Given the description of an element on the screen output the (x, y) to click on. 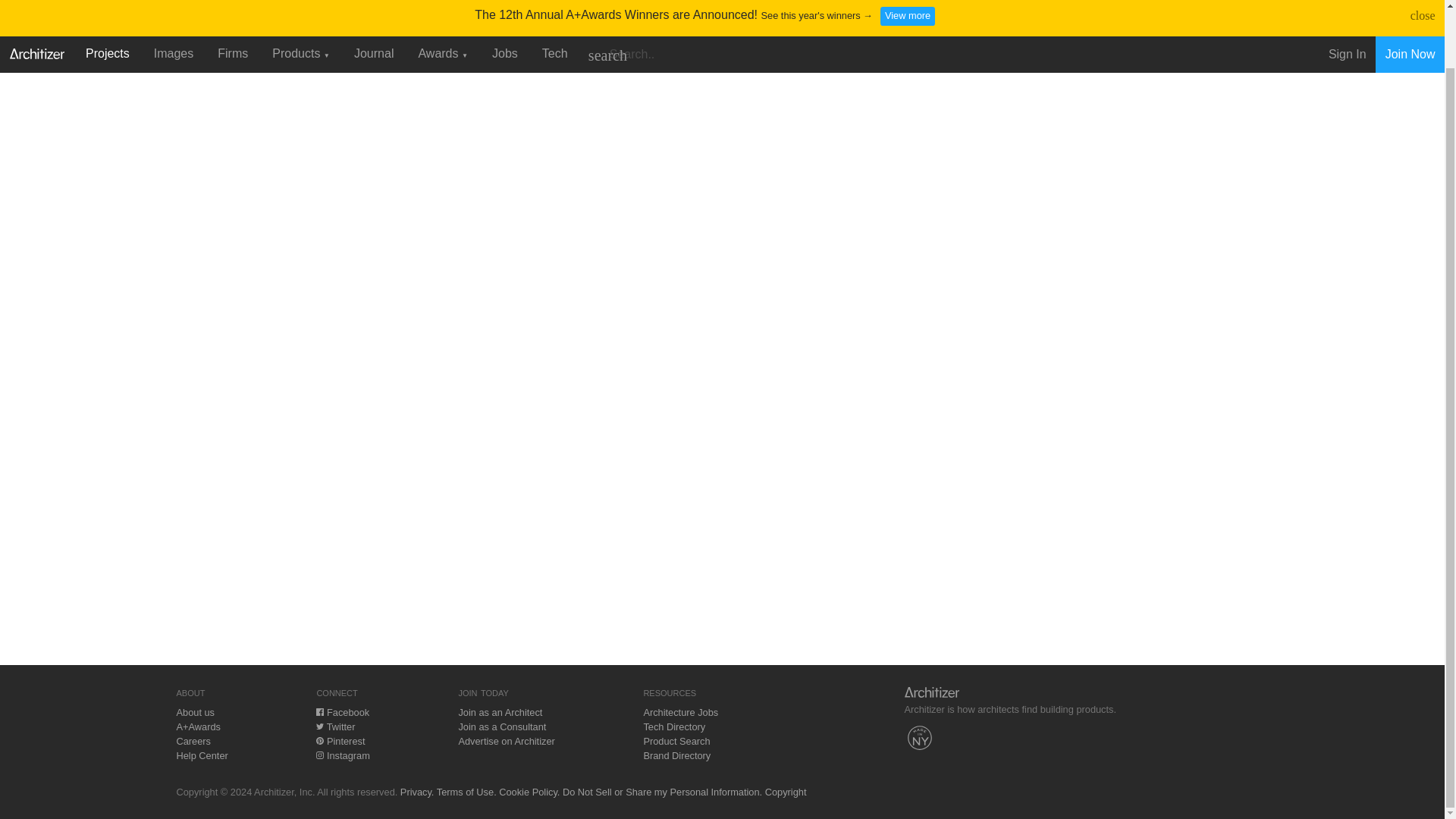
search (606, 4)
Careers (193, 740)
Firms (232, 2)
Join as an Architect (499, 712)
Advertise on Architizer (506, 740)
Journal (374, 2)
Pinterest (340, 740)
Images (173, 2)
Pinterest icon (319, 740)
Jobs (504, 2)
